Given the description of an element on the screen output the (x, y) to click on. 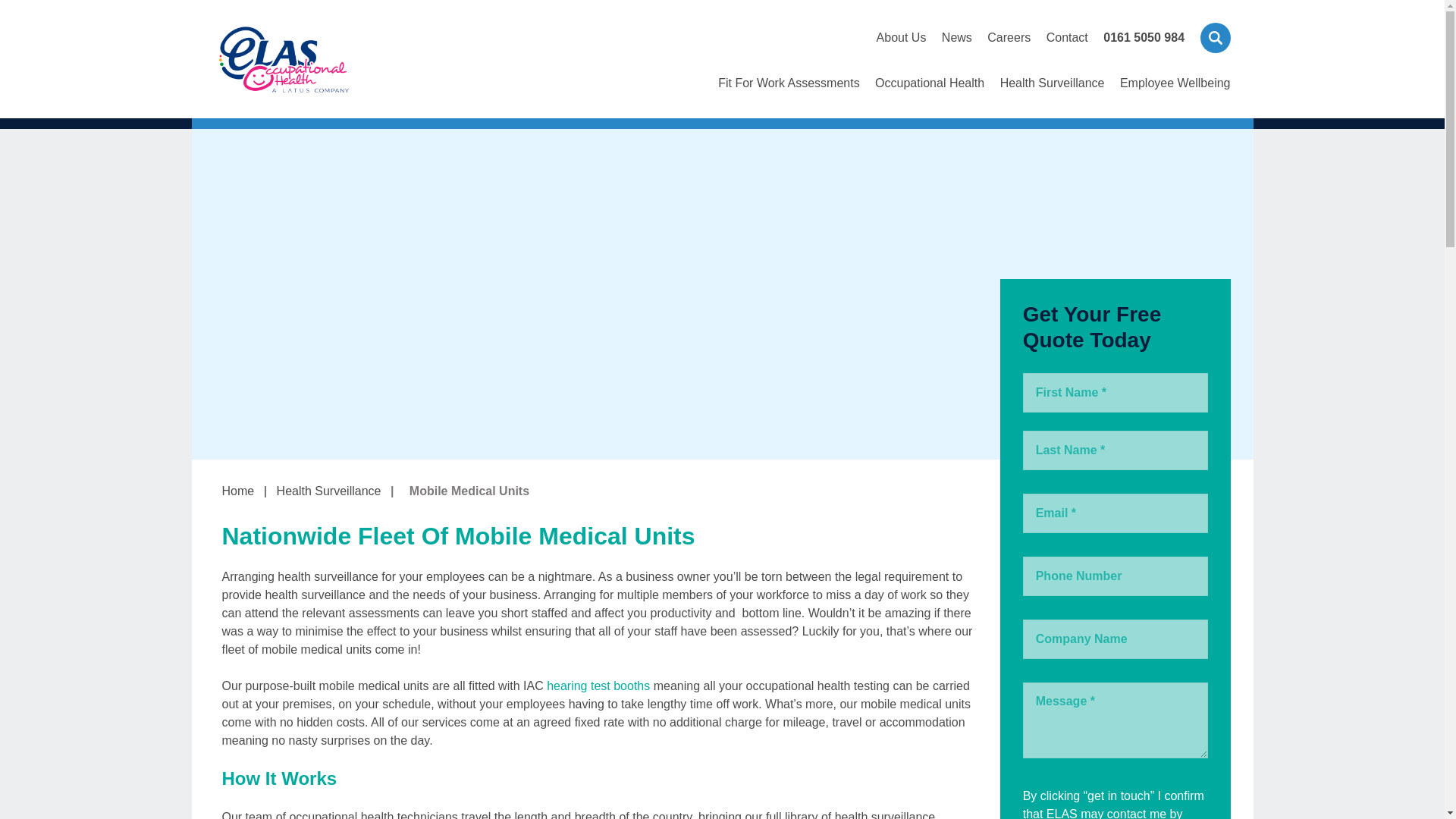
News (957, 37)
About Us (901, 37)
Health Surveillance (1052, 97)
Careers (1008, 37)
0161 5050 984 (1144, 37)
Fit For Work Assessments (788, 97)
Contact (1066, 37)
Occupational Health (929, 97)
